Given the description of an element on the screen output the (x, y) to click on. 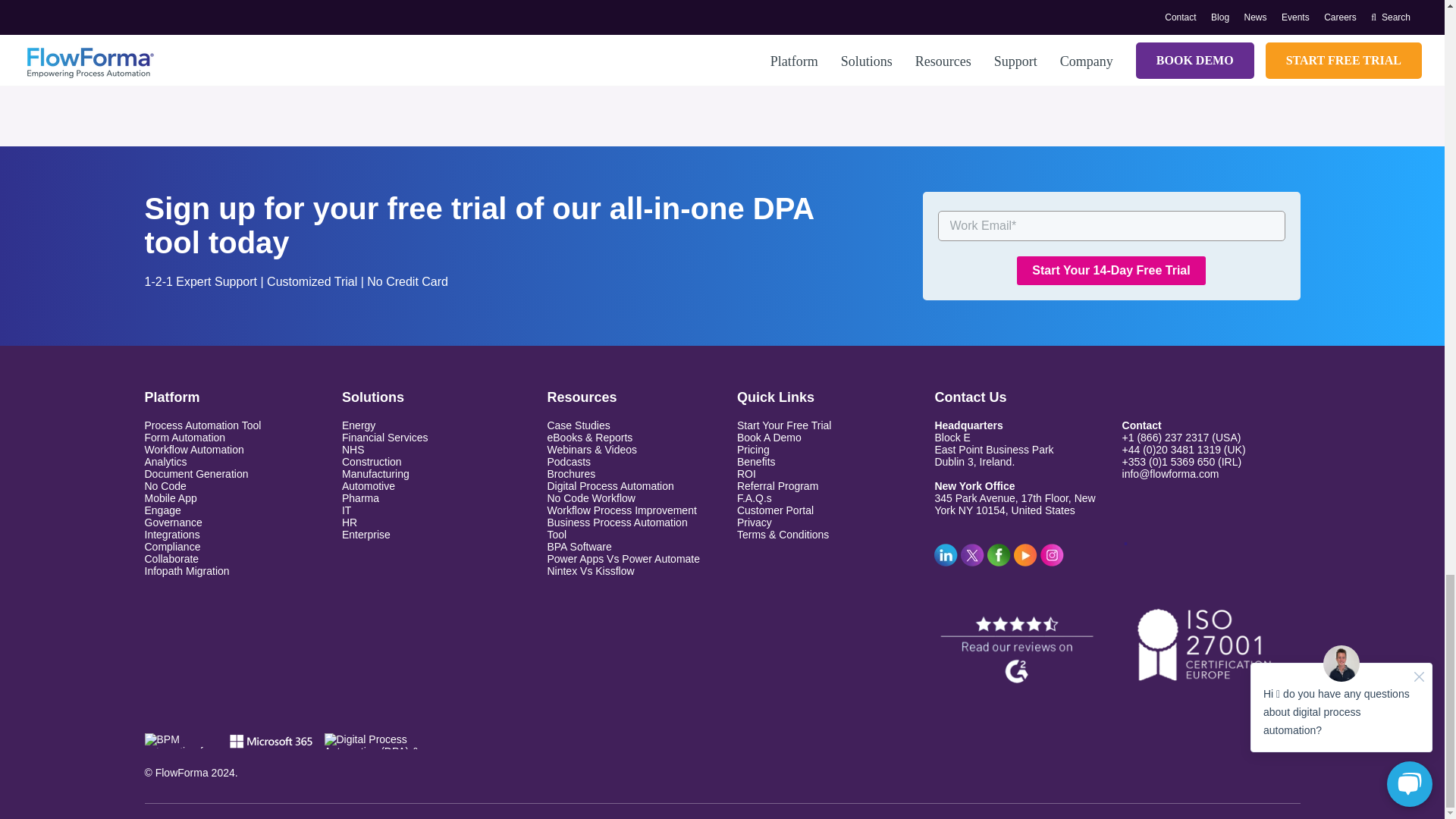
Start Your 14-Day Free Trial (1110, 270)
BPM automation for Microsoft SharePoint (180, 740)
